Given the description of an element on the screen output the (x, y) to click on. 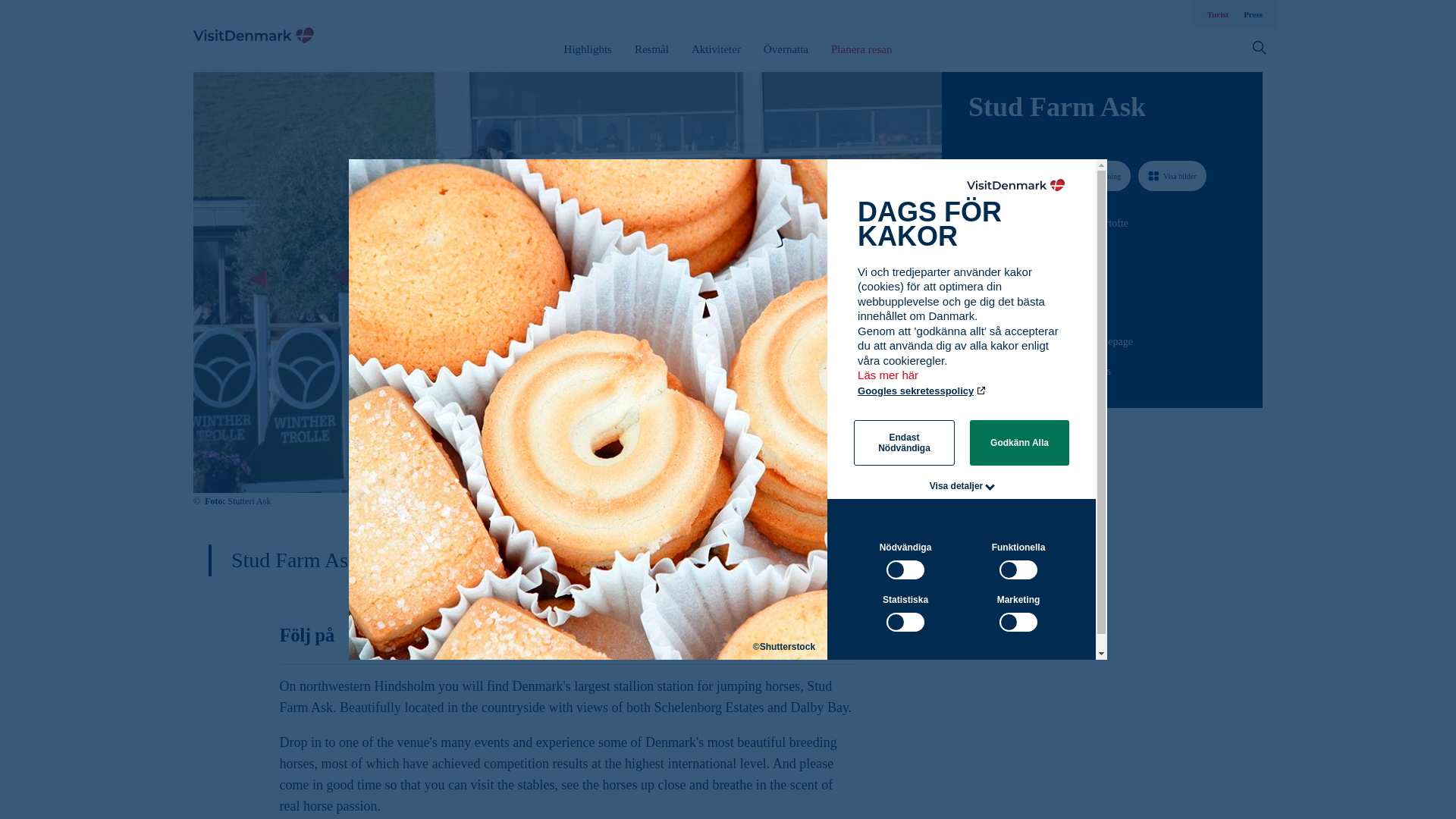
Path (973, 339)
Visa detaljer (957, 485)
Googles sekretesspolicy (922, 390)
Path (973, 279)
